Given the description of an element on the screen output the (x, y) to click on. 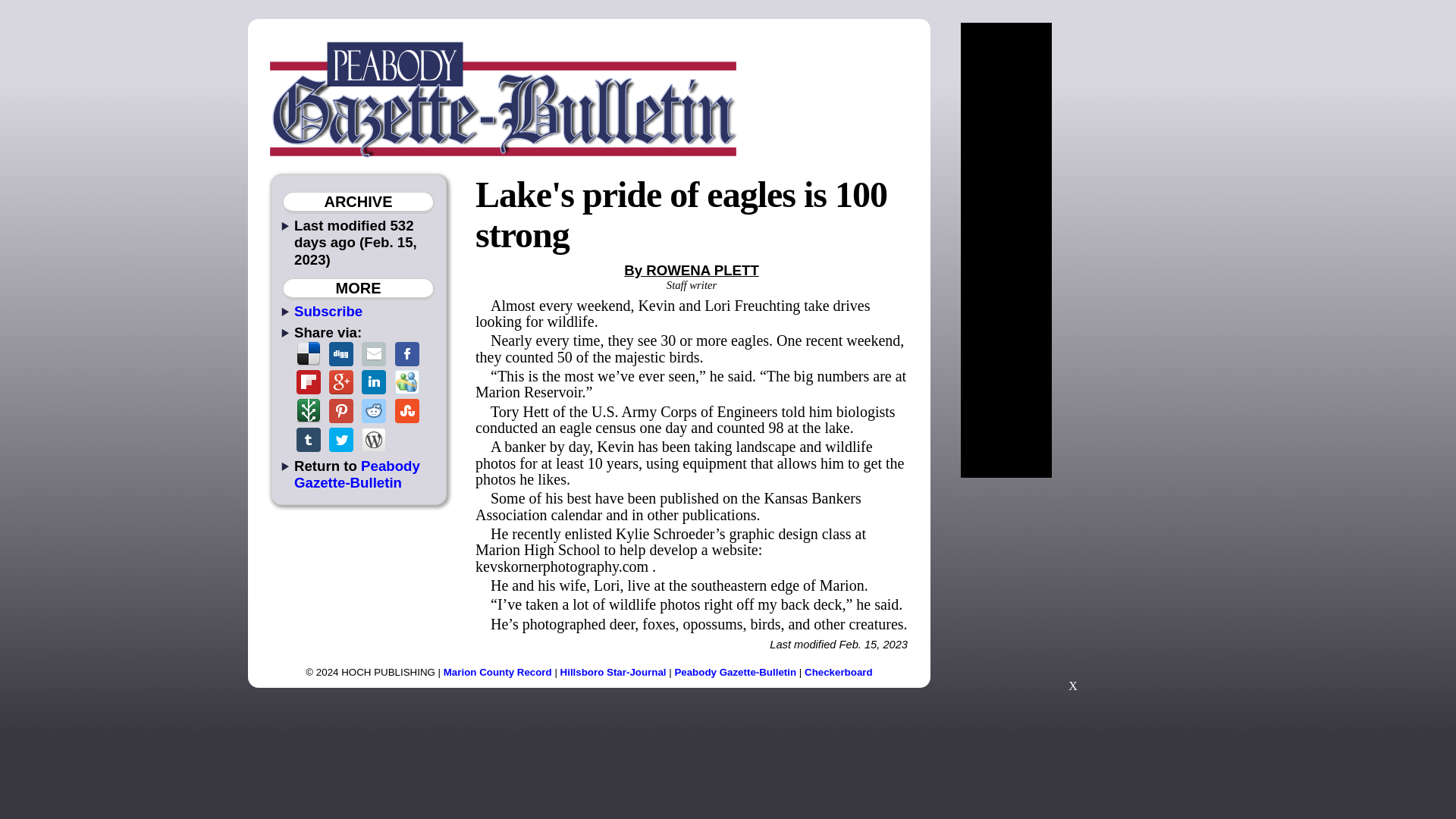
Advertisement (1072, 591)
Checkerboard (838, 672)
Peabody Gazette-Bulletin (735, 672)
Peabody Gazette-Bulletin (357, 473)
Marion County Record (497, 672)
Subscribe (328, 311)
Hillsboro Star-Journal (613, 672)
